Given the description of an element on the screen output the (x, y) to click on. 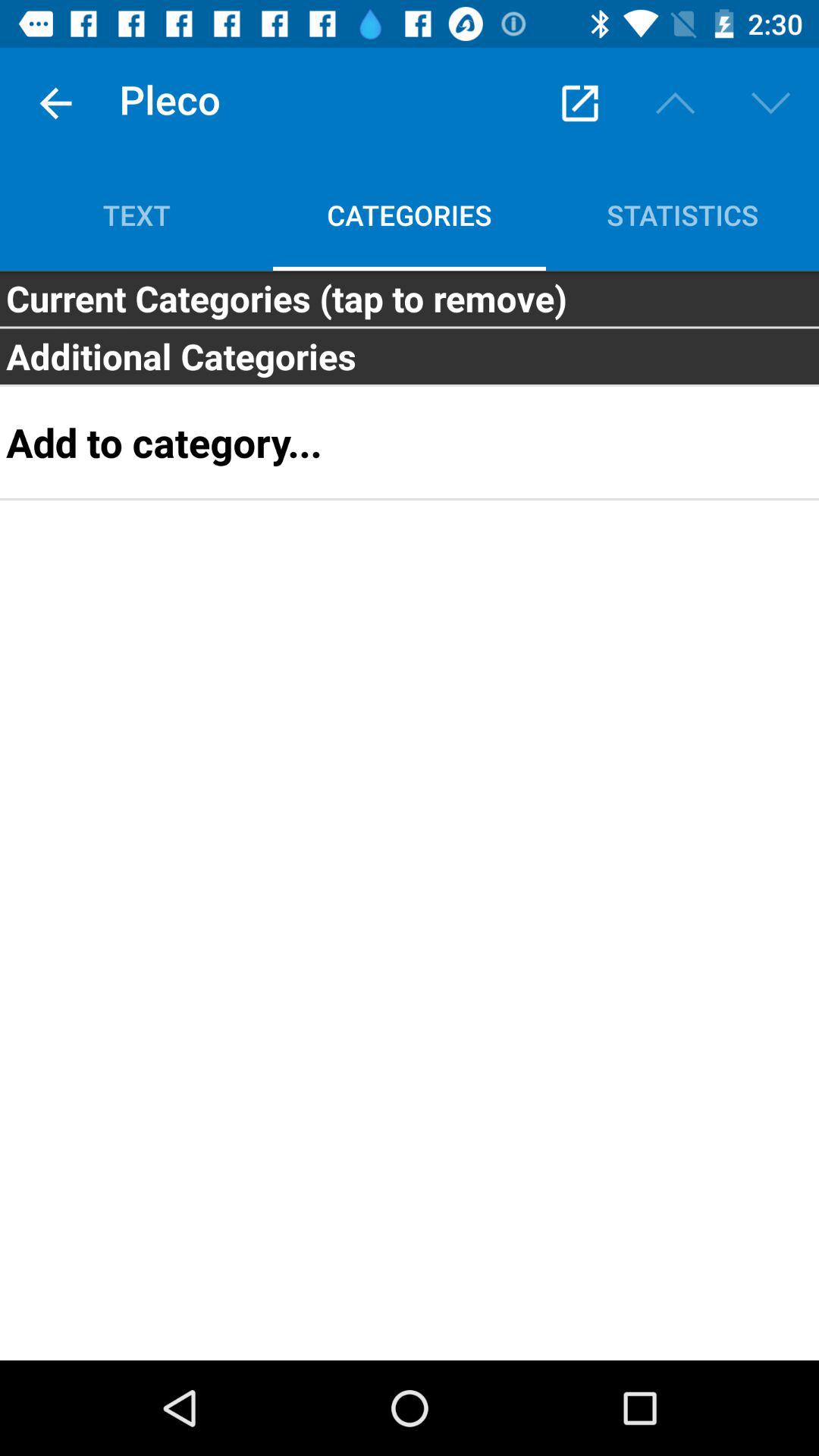
turn on the item above the statistics (675, 103)
